Given the description of an element on the screen output the (x, y) to click on. 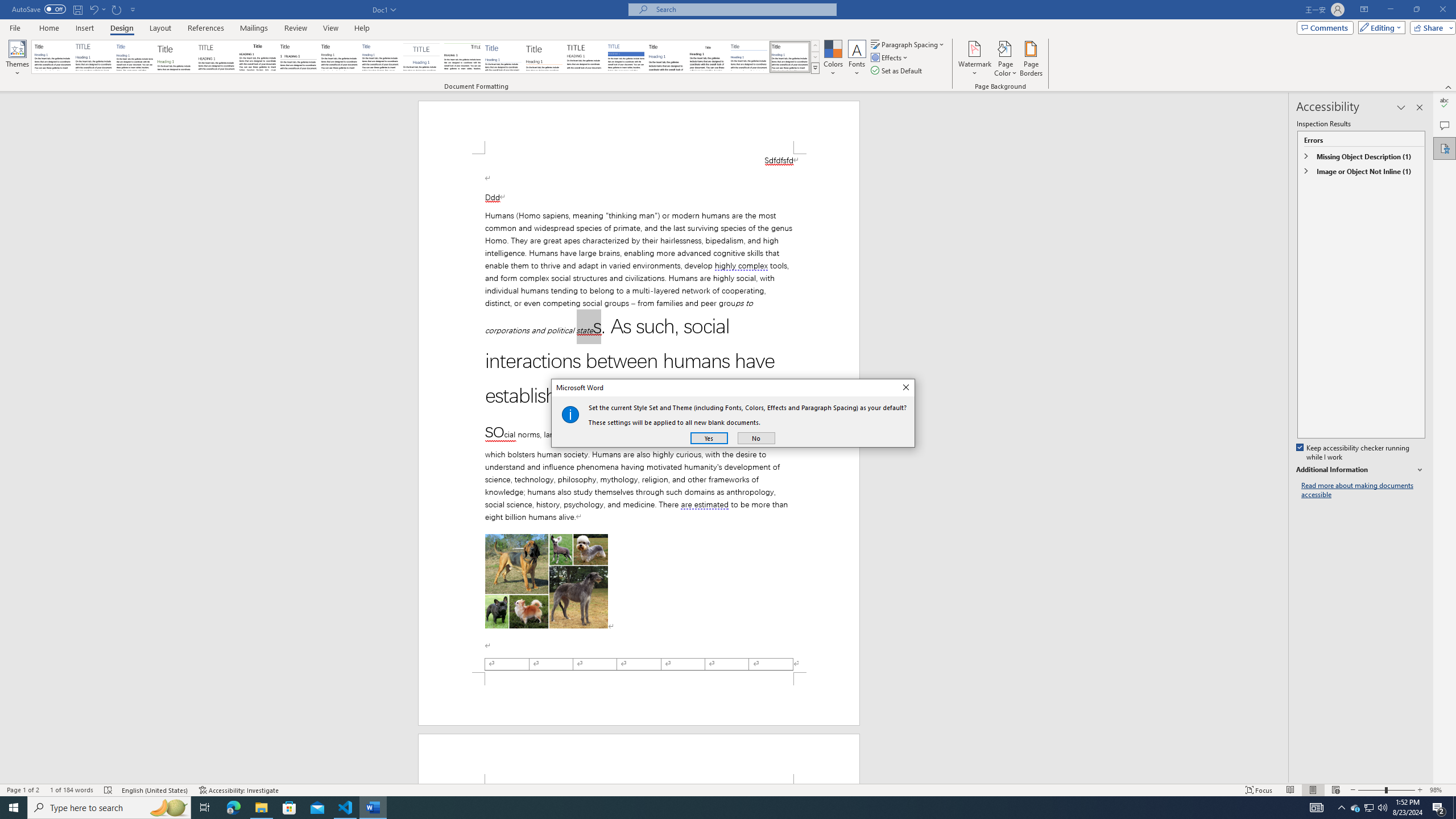
Effects (890, 56)
Morphological variation in six dogs (546, 580)
Word (666, 56)
Black & White (Capitalized) (216, 56)
Editing (1379, 27)
Casual (379, 56)
No (756, 437)
Page Number Page 1 of 2 (22, 790)
Word - 1 running window (373, 807)
Start (13, 807)
Running applications (717, 807)
